Given the description of an element on the screen output the (x, y) to click on. 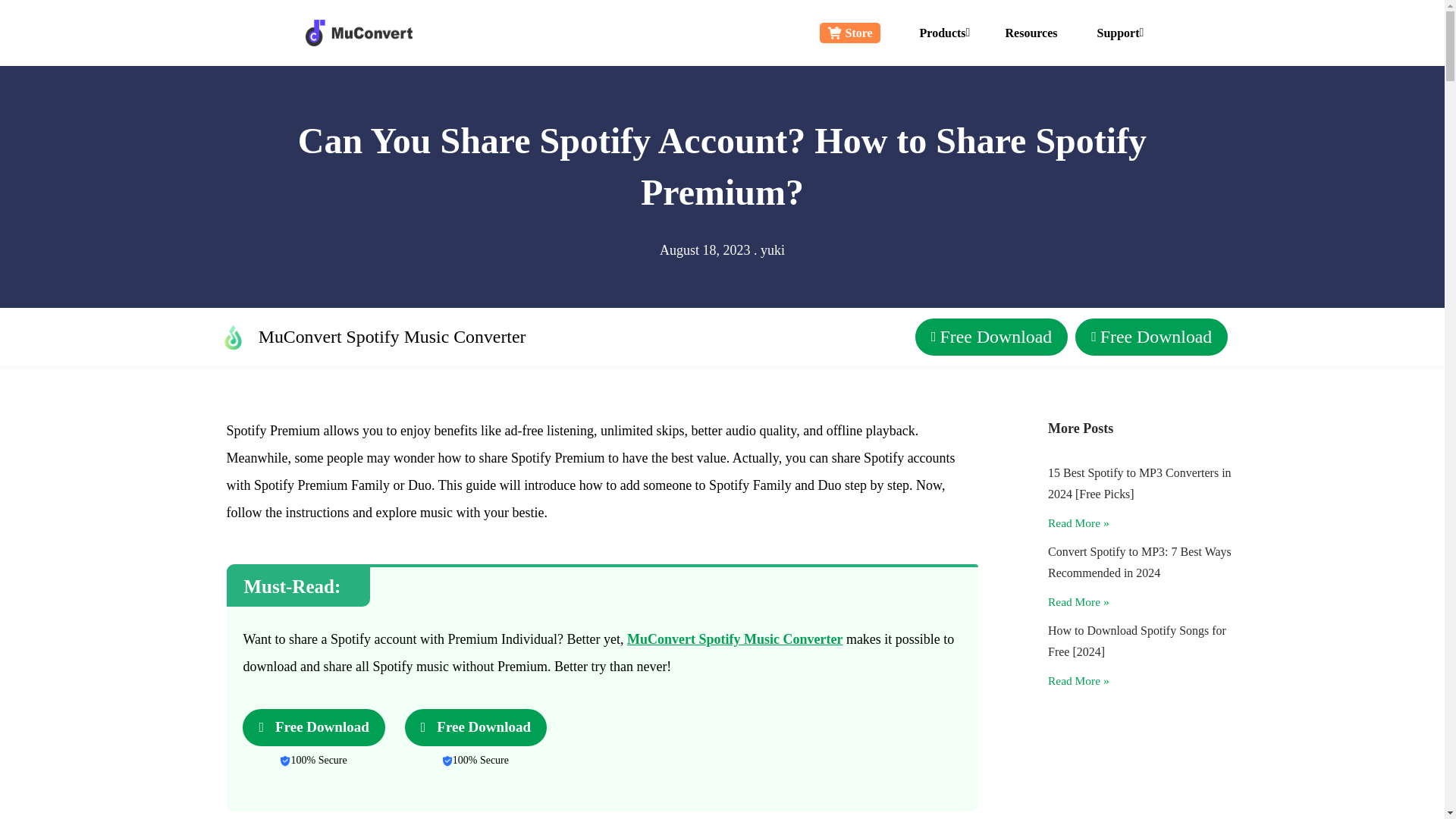
Free Download (313, 727)
Free Download (1151, 336)
Store (849, 32)
Free Download (475, 727)
Free Download (991, 336)
Support (1118, 32)
Products (943, 32)
Resources (1032, 32)
MuConvert Spotify Music Converter (735, 639)
